Given the description of an element on the screen output the (x, y) to click on. 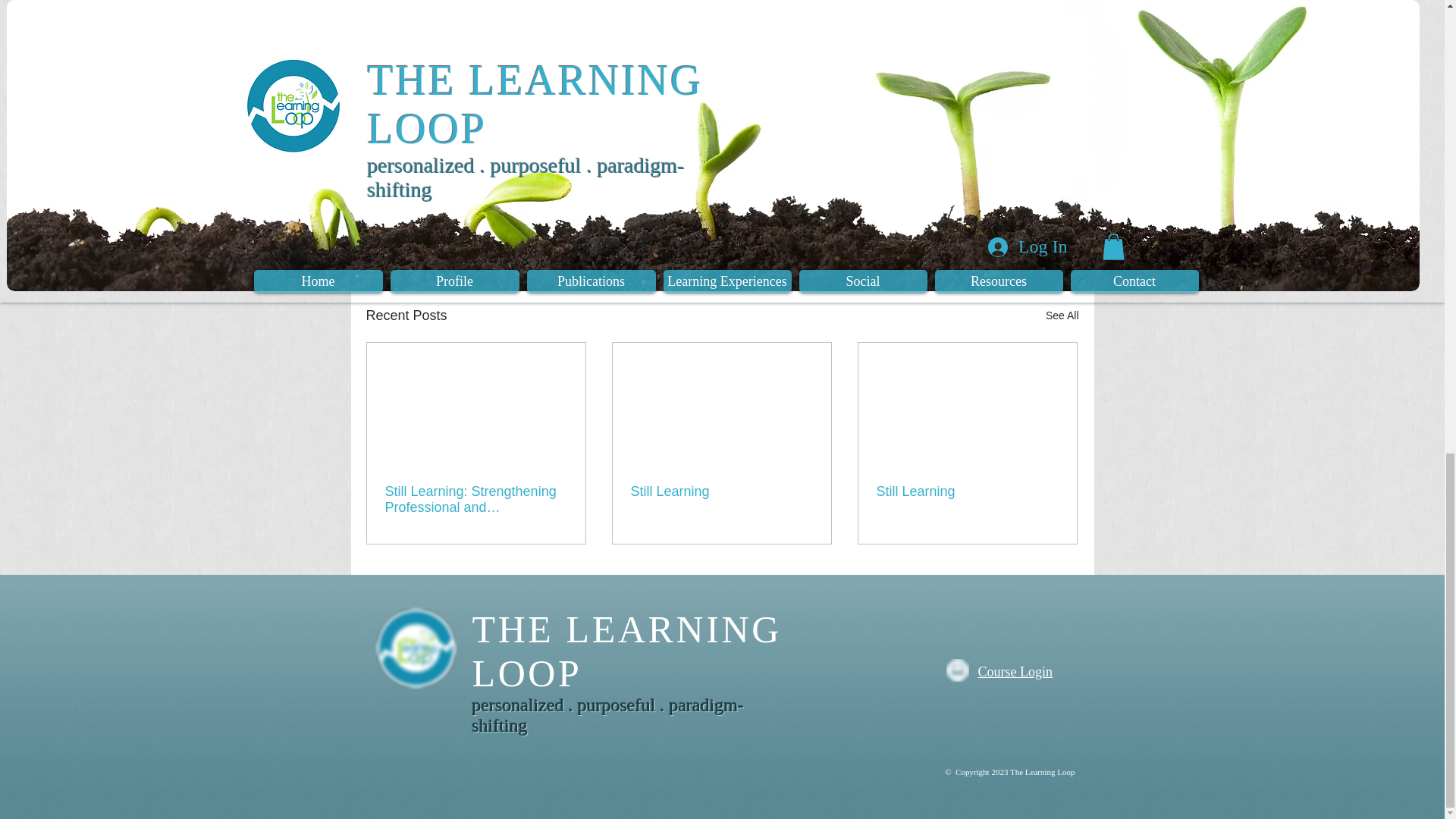
Laptop Icon - White.png (957, 670)
SEL (460, 160)
